Given the description of an element on the screen output the (x, y) to click on. 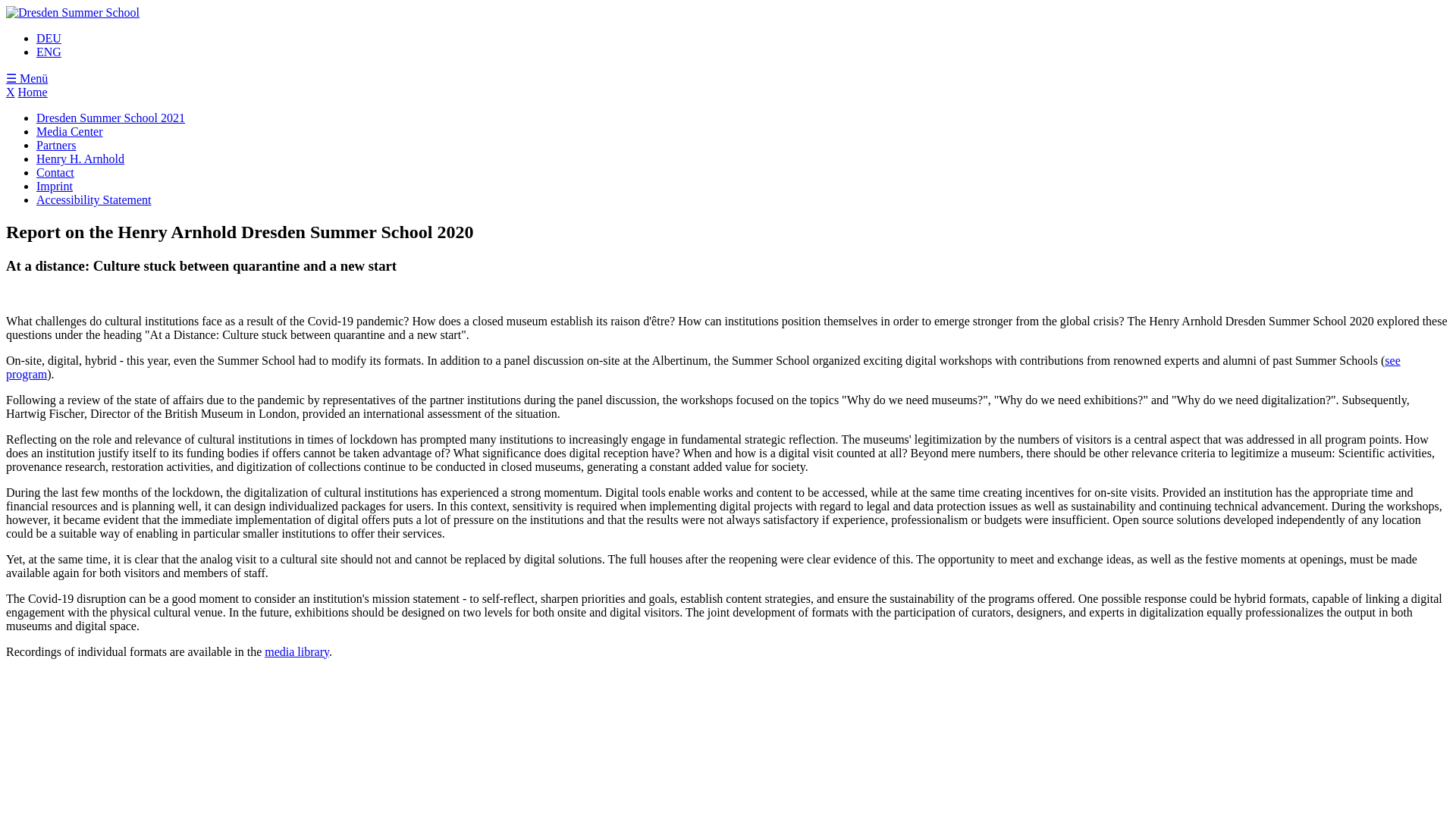
Contact (55, 172)
Imprint (54, 185)
Henry H. Arnhold (79, 158)
DEU (48, 38)
see program (702, 366)
Accessibility Statement (93, 199)
Partners (55, 144)
Zur Startseite der Dresden Summer School (72, 11)
ENG (48, 51)
Media Center (69, 131)
